Given the description of an element on the screen output the (x, y) to click on. 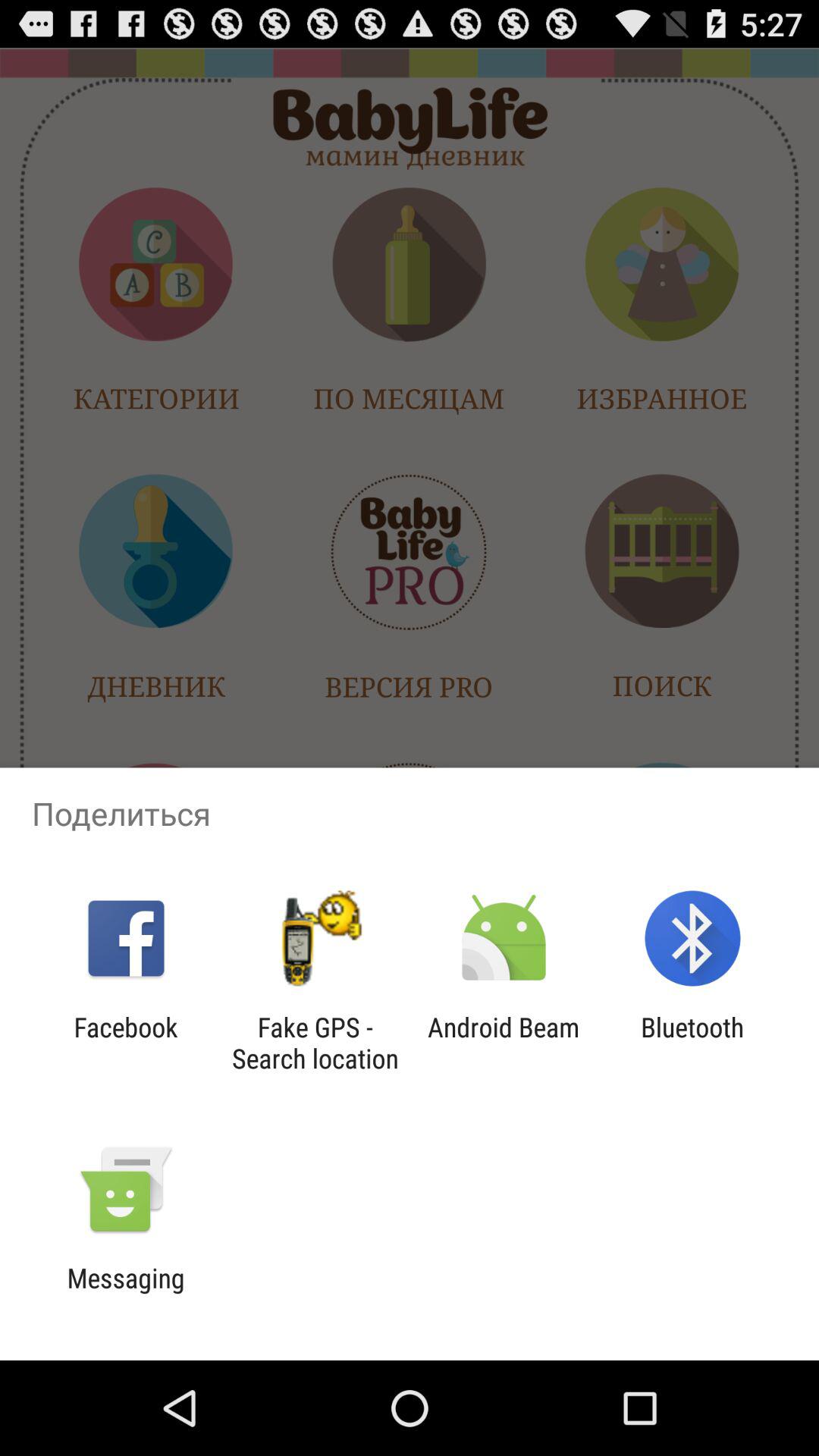
press the icon to the left of the bluetooth app (503, 1042)
